Given the description of an element on the screen output the (x, y) to click on. 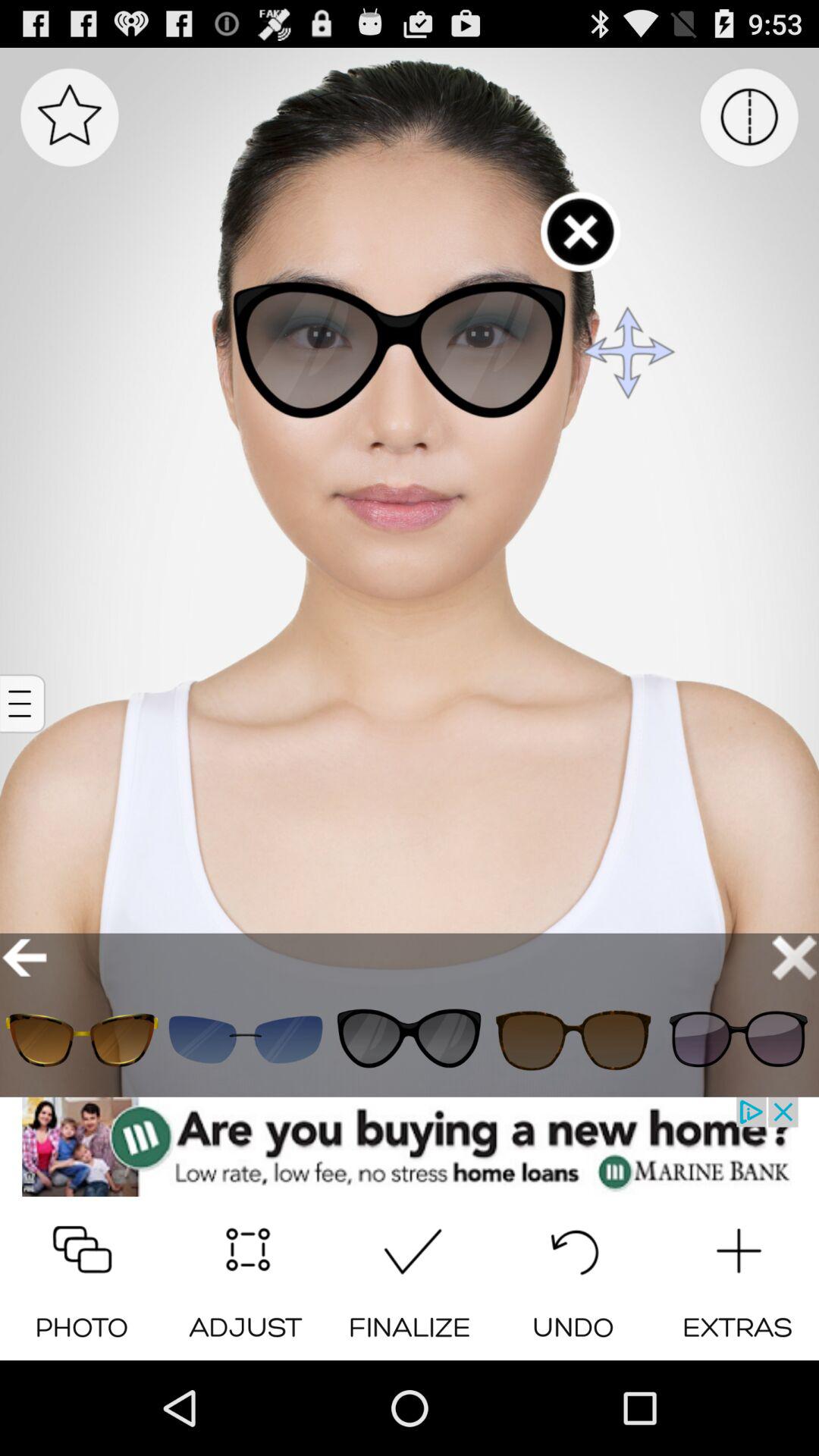
advertisement page (409, 1146)
